Given the description of an element on the screen output the (x, y) to click on. 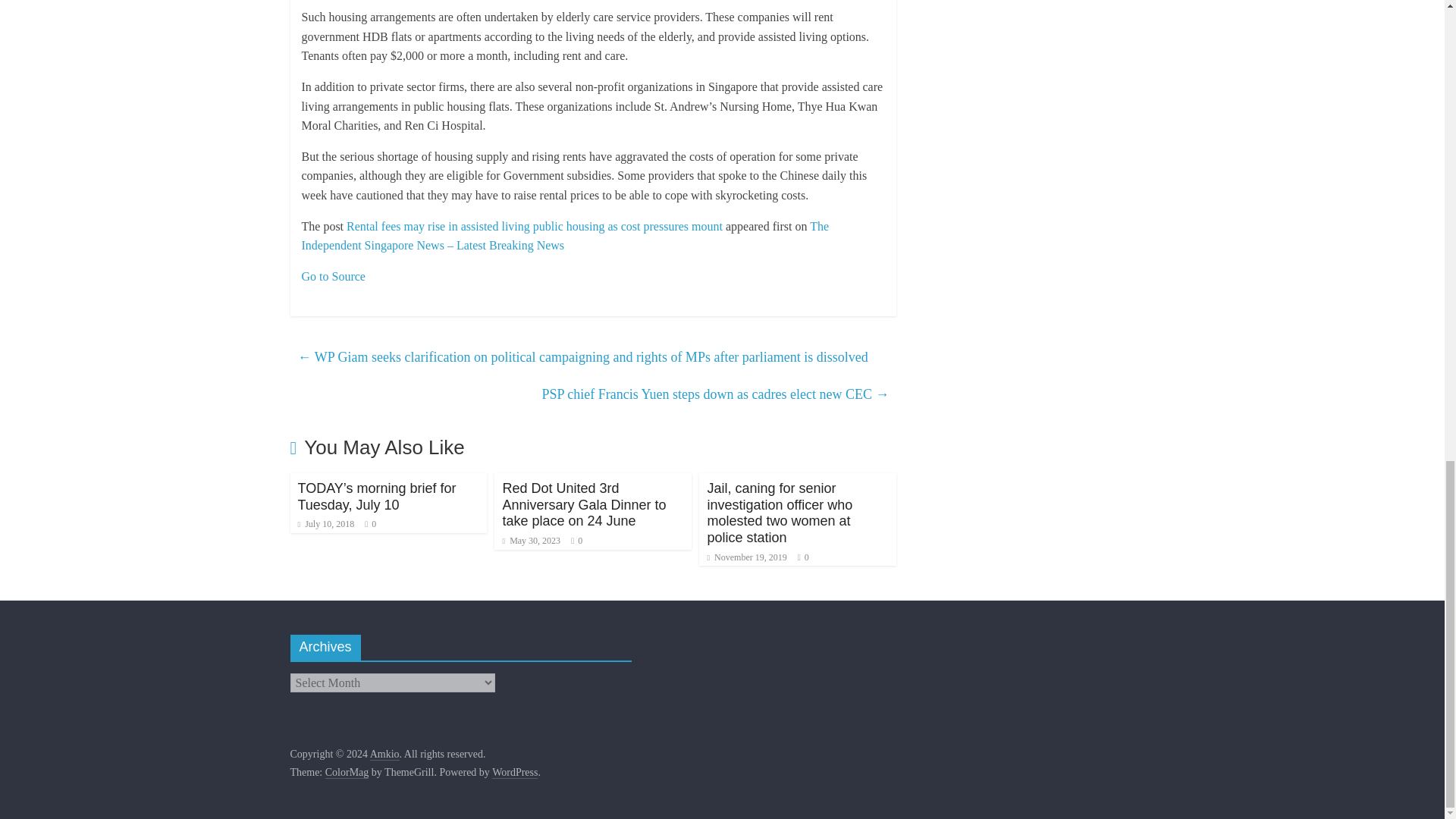
July 10, 2018 (325, 523)
11:26 am (531, 540)
November 19, 2019 (746, 557)
May 30, 2023 (531, 540)
7:27 am (325, 523)
Amkio (383, 754)
Go to Source (333, 276)
6:25 pm (746, 557)
